Given the description of an element on the screen output the (x, y) to click on. 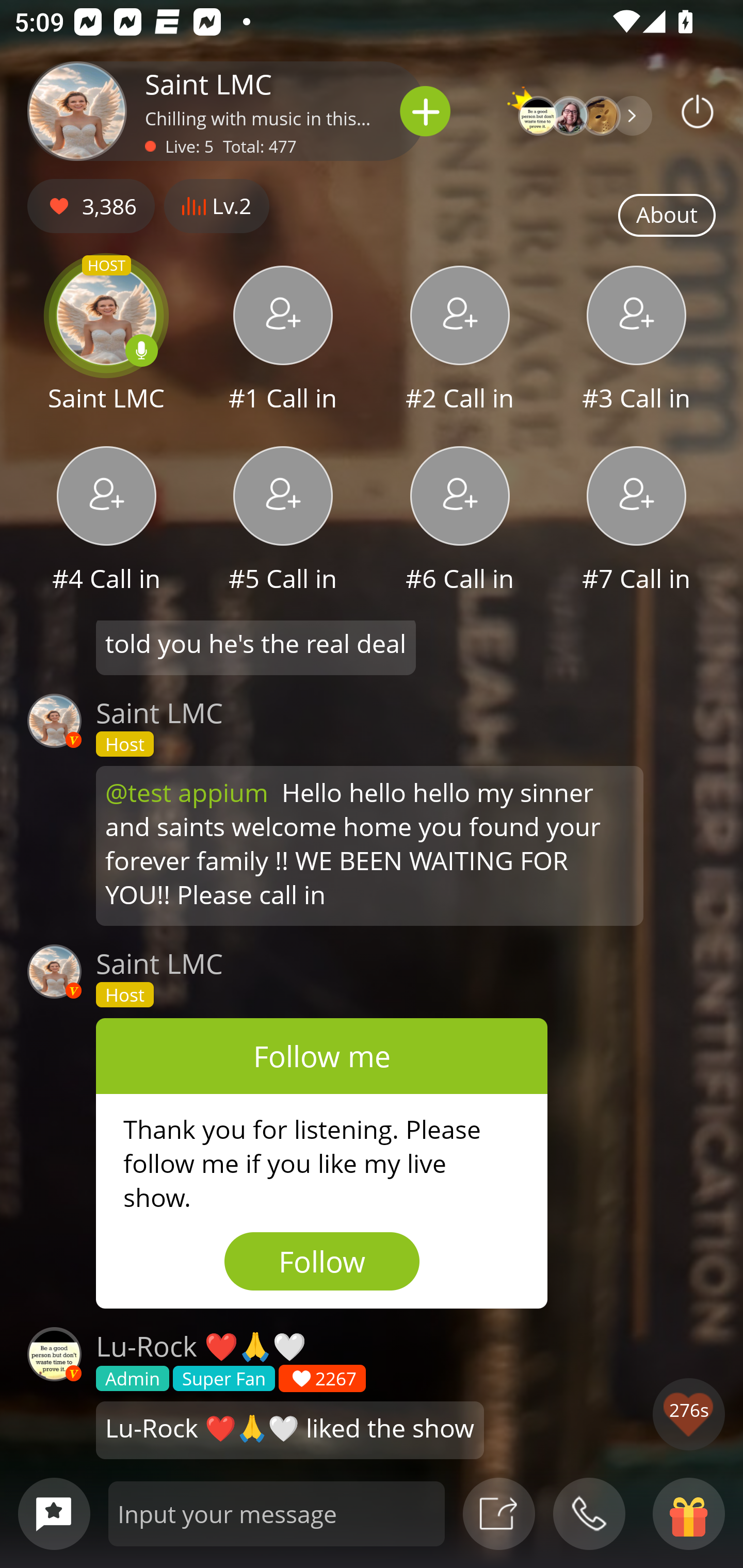
Podbean (697, 111)
About (666, 215)
HOST Saint LMC (105, 340)
#1 Call in (282, 340)
#2 Call in (459, 340)
#3 Call in (636, 340)
#4 Call in (105, 521)
#5 Call in (282, 521)
#6 Call in (459, 521)
#7 Call in (636, 521)
Follow (321, 1261)
Input your message (276, 1513)
